Given the description of an element on the screen output the (x, y) to click on. 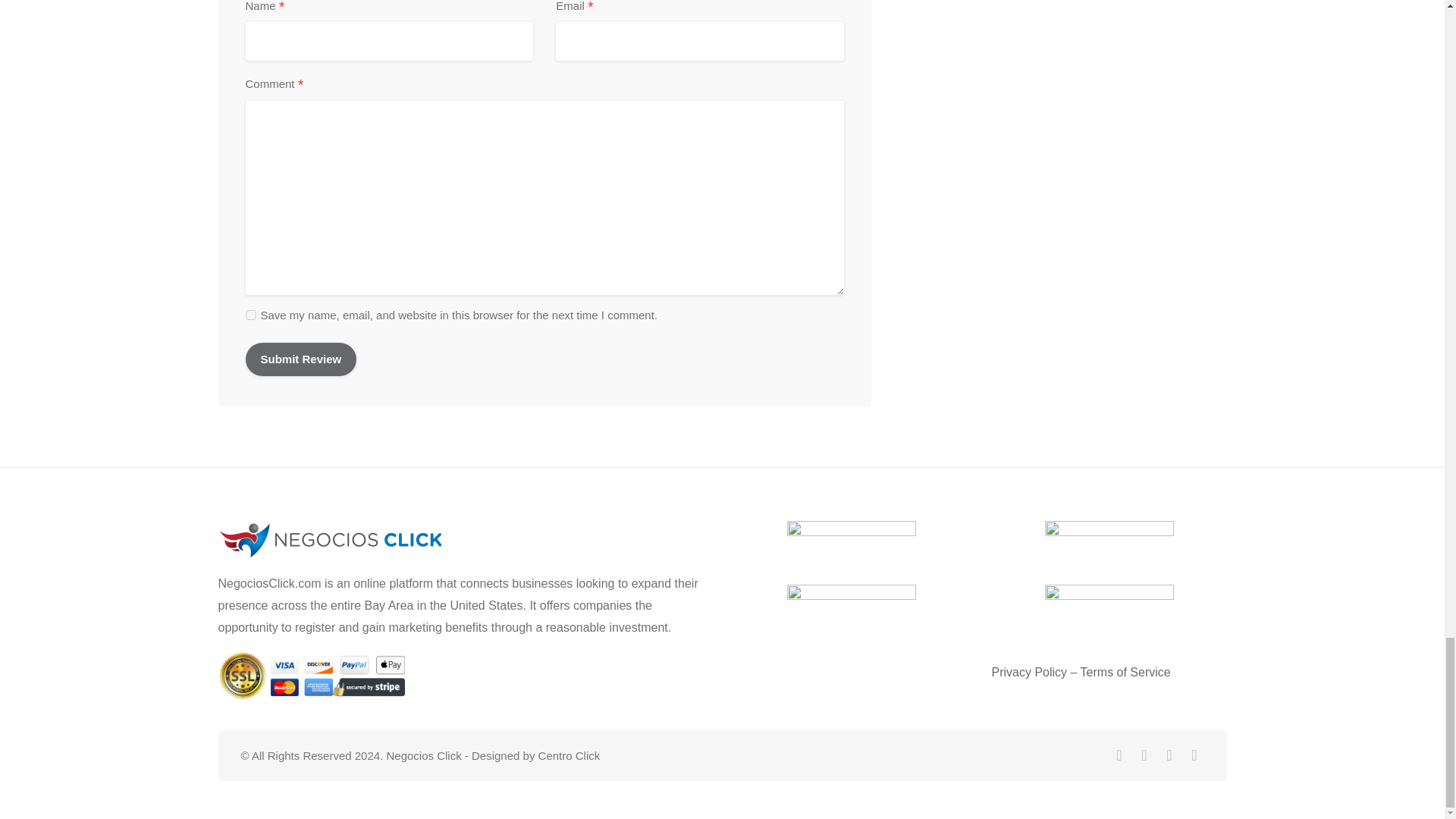
linkedin (1143, 755)
twitter (1119, 755)
Submit Review (301, 359)
facebook-messenger (1169, 755)
yes (251, 315)
